Given the description of an element on the screen output the (x, y) to click on. 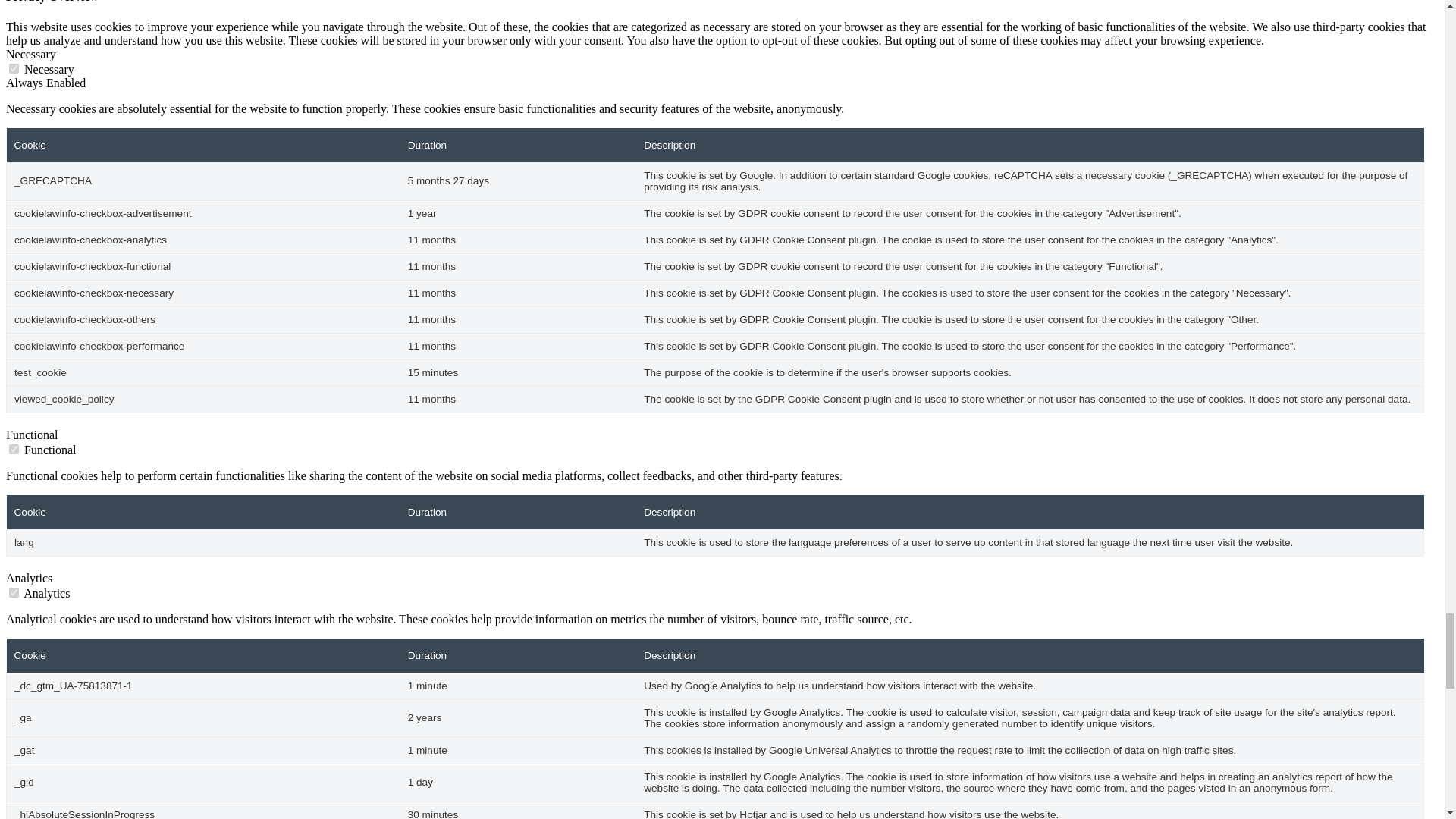
on (13, 449)
on (13, 68)
on (13, 592)
